Given the description of an element on the screen output the (x, y) to click on. 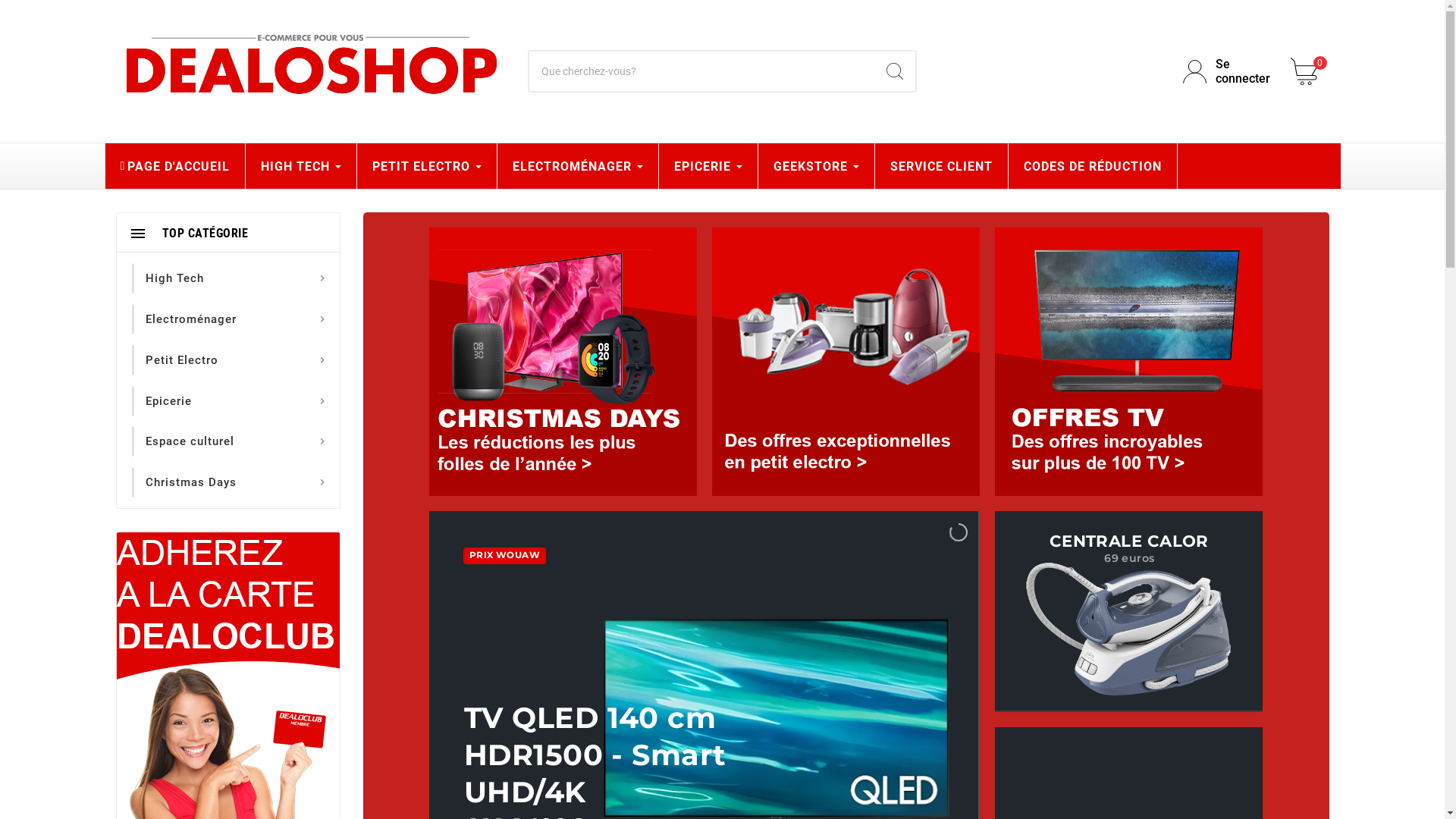
0 Element type: text (1309, 70)
Se connecter Element type: text (1227, 70)
High Tech Element type: text (174, 278)
PAGE D'ACCUEIL Element type: text (174, 165)
Christmas Days Element type: text (190, 482)
SERVICE CLIENT Element type: text (941, 165)
Epicerie Element type: text (168, 401)
HIGH TECH Element type: text (300, 165)
PETIT ELECTRO Element type: text (426, 165)
Petit Electro Element type: text (181, 360)
Espace culturel Element type: text (189, 441)
EPICERIE Element type: text (707, 165)
GEEKSTORE Element type: text (816, 165)
